Given the description of an element on the screen output the (x, y) to click on. 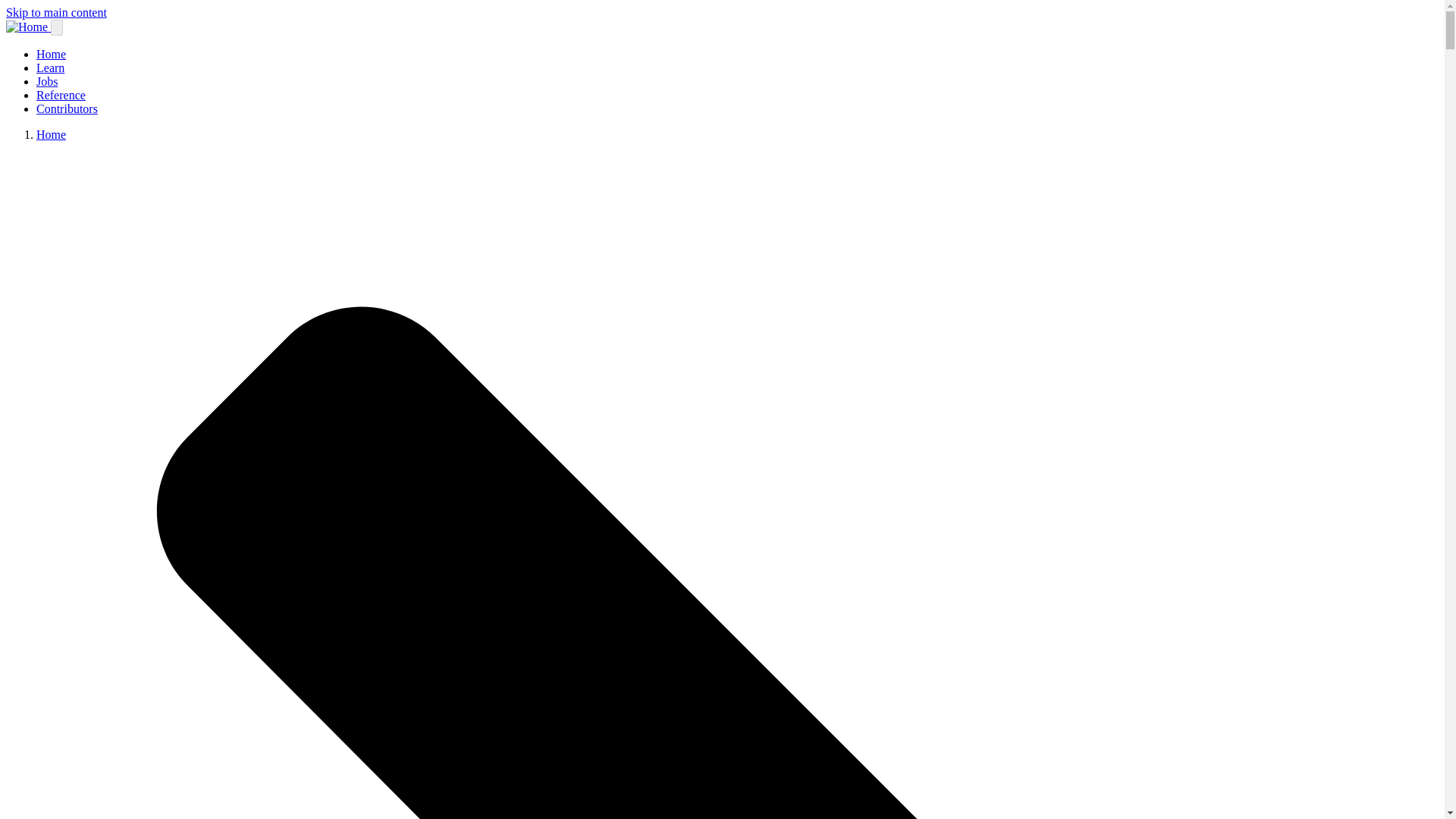
Contributors (66, 108)
Learn (50, 67)
Home (50, 53)
Skip to main content (55, 11)
Jobs (47, 81)
Home (50, 133)
Reference (60, 94)
